Given the description of an element on the screen output the (x, y) to click on. 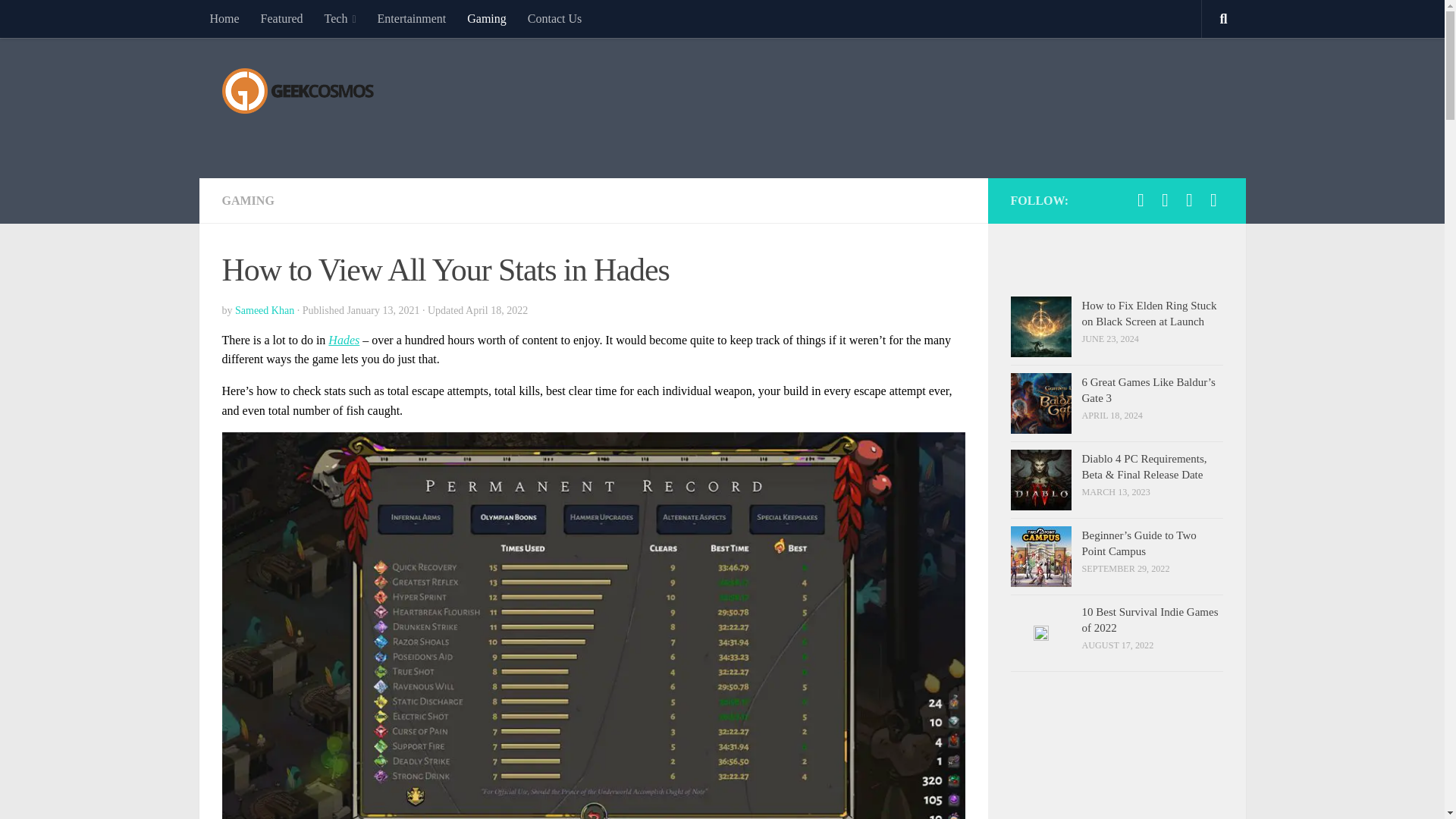
Entertainment (411, 18)
Twitter (1164, 199)
Contact Us (554, 18)
Home (223, 18)
Gaming (486, 18)
Facebook (1140, 199)
Sameed Khan (264, 310)
Featured (282, 18)
Tech (340, 18)
Hades (344, 339)
RSS Feed (1188, 199)
Youtube Channel (1213, 199)
Posts by Sameed Khan (264, 310)
GAMING (247, 200)
